Given the description of an element on the screen output the (x, y) to click on. 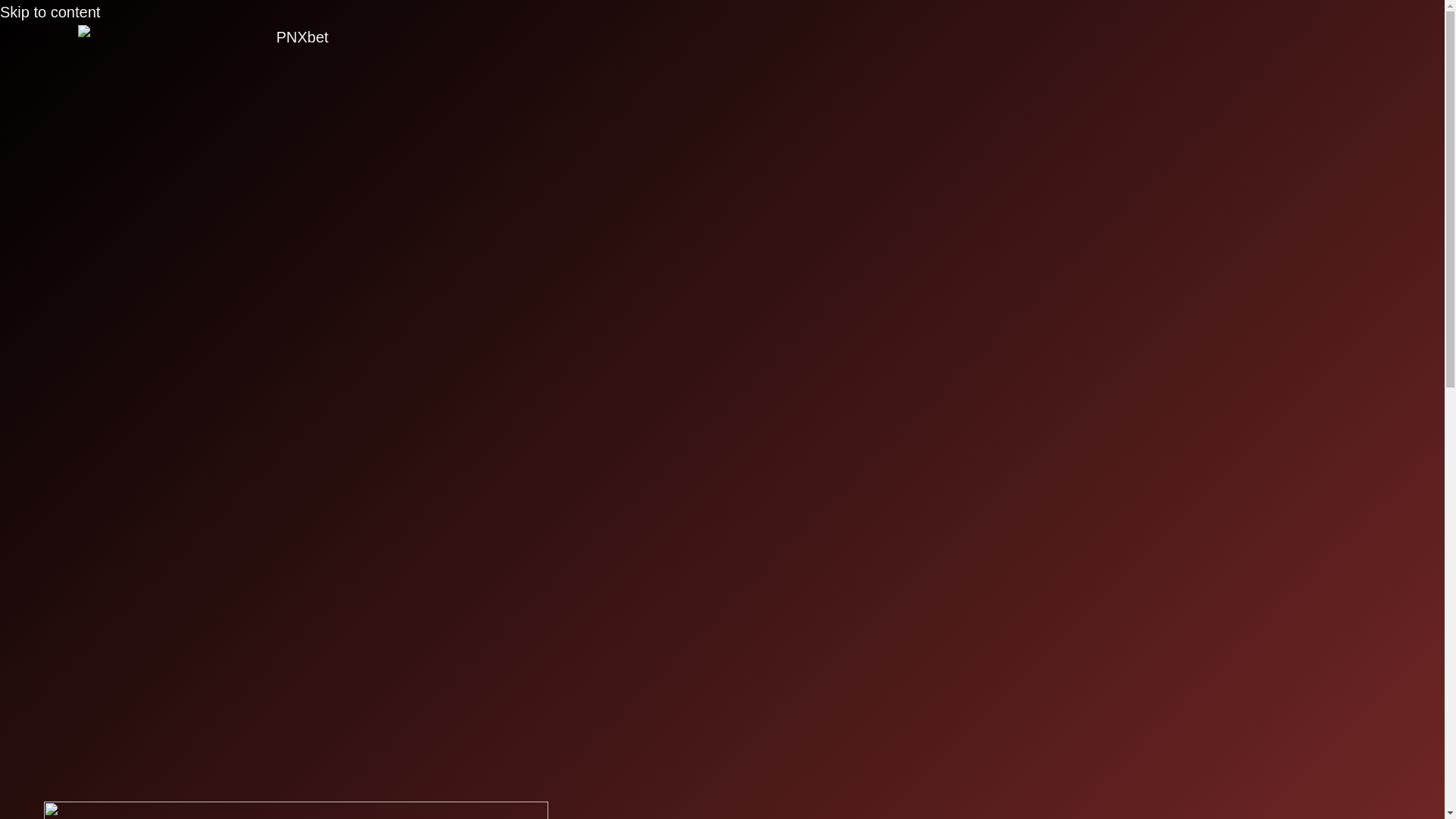
Skip to content (50, 12)
Skip to content (50, 12)
